Given the description of an element on the screen output the (x, y) to click on. 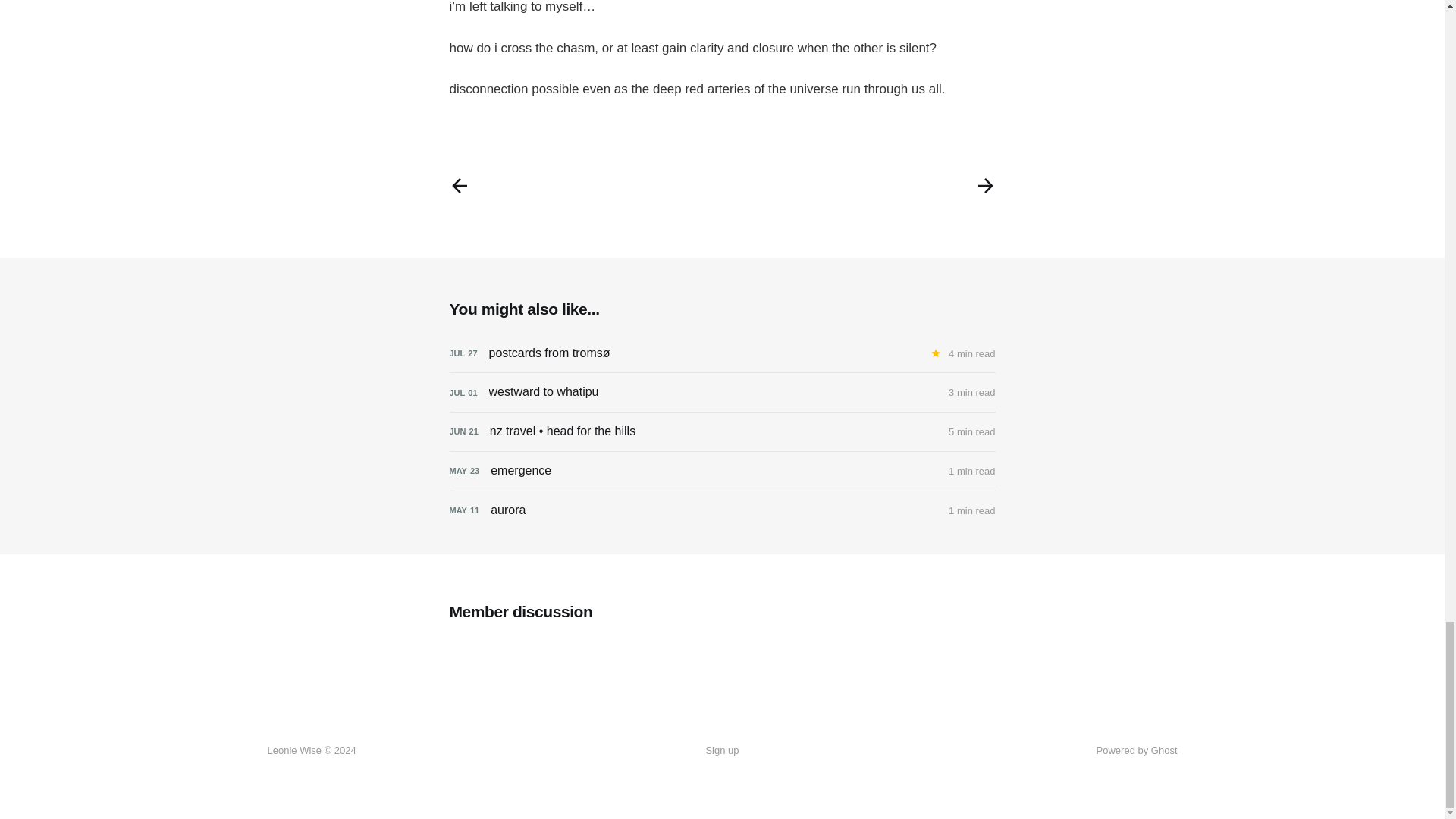
Powered by Ghost (1136, 749)
Sign up (721, 750)
